Given the description of an element on the screen output the (x, y) to click on. 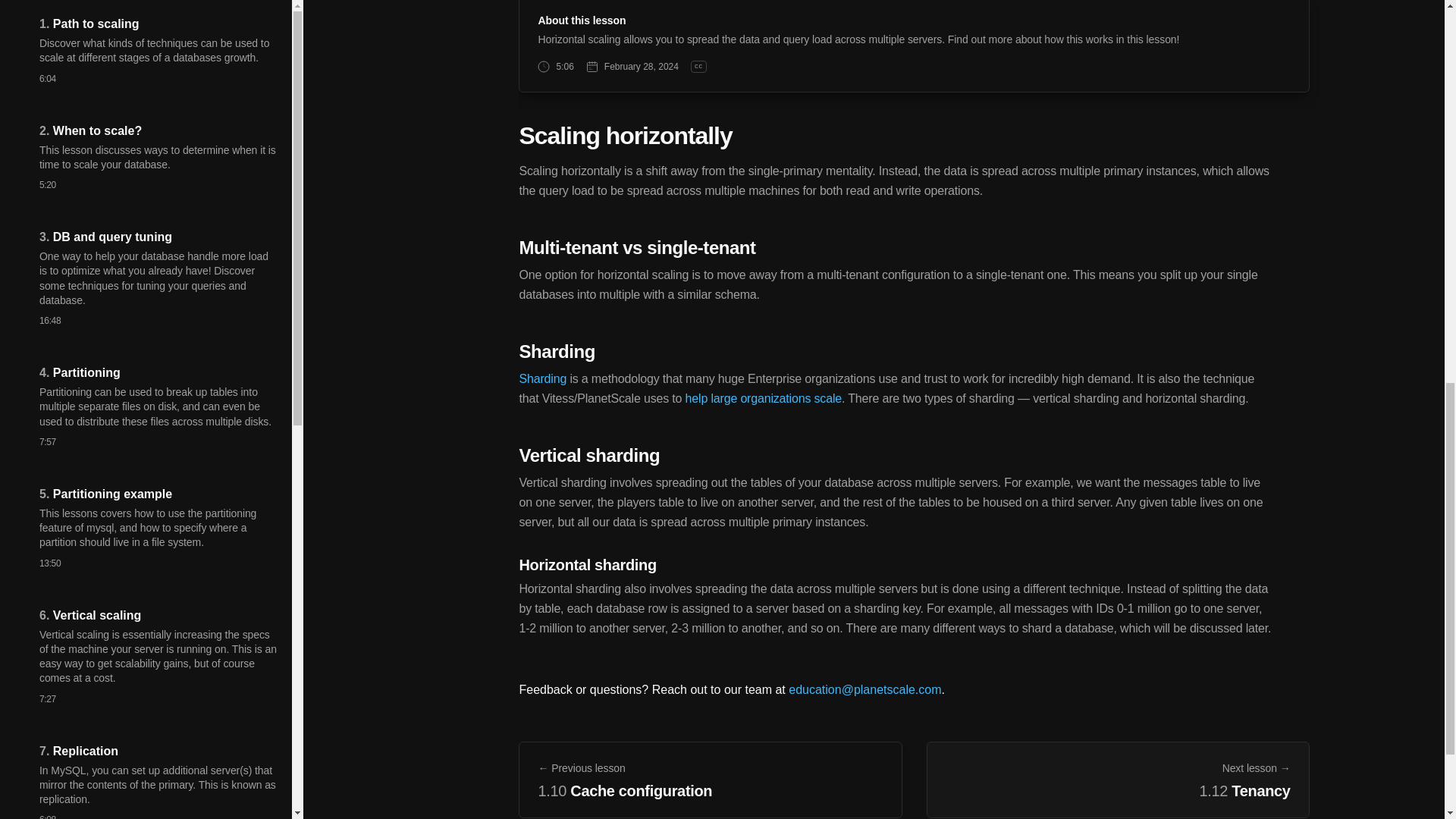
Multi-tenant vs single-tenant (636, 247)
Sharding (556, 351)
Horizontal sharding (587, 564)
Scaling horizontally (625, 135)
help large organizations scale (763, 398)
Sharding (542, 378)
Vertical sharding (588, 455)
